Given the description of an element on the screen output the (x, y) to click on. 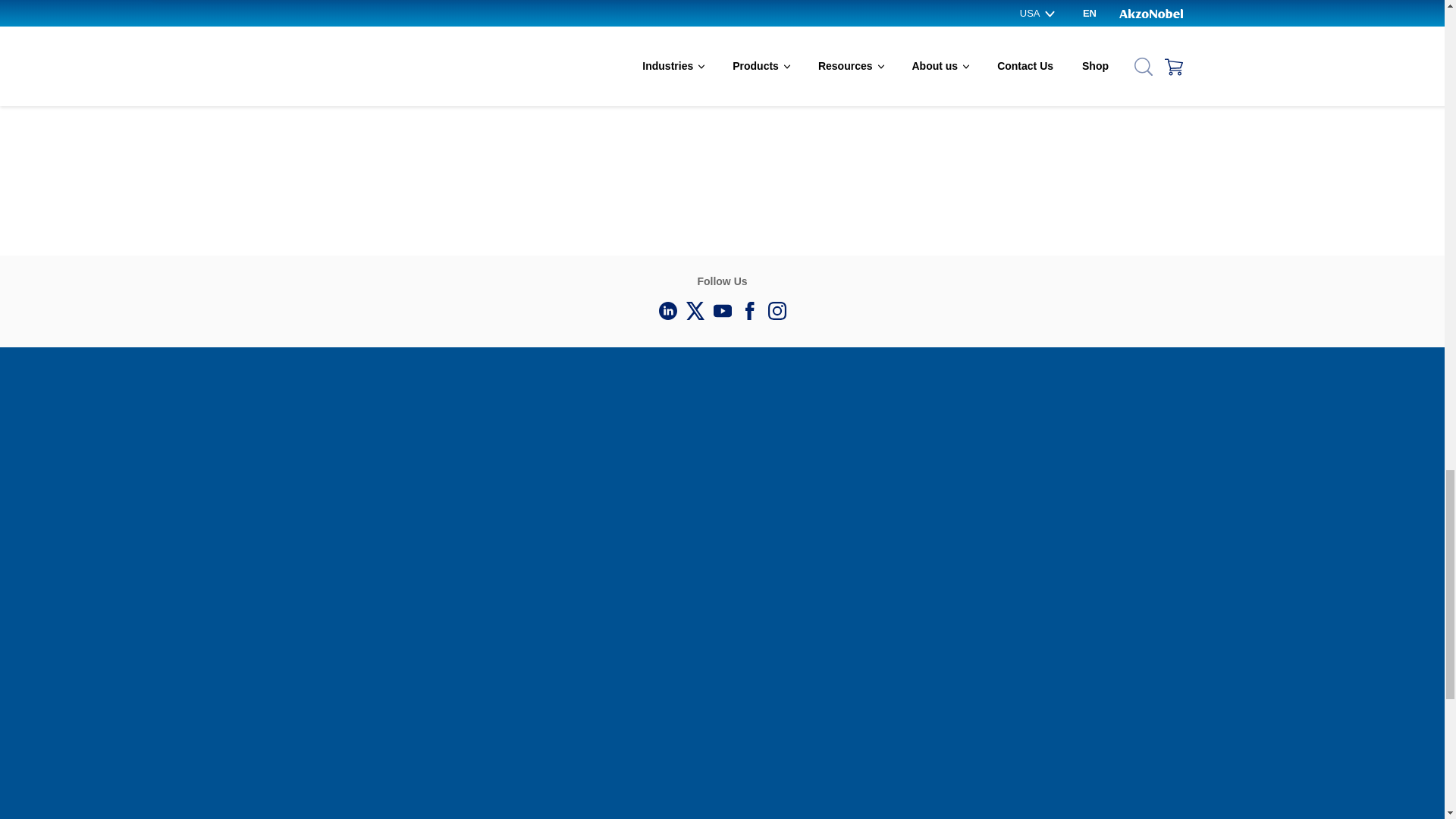
Follow Us (721, 311)
Follow Us (748, 311)
Follow Us (776, 311)
Follow Us (667, 311)
Follow Us (694, 311)
